Given the description of an element on the screen output the (x, y) to click on. 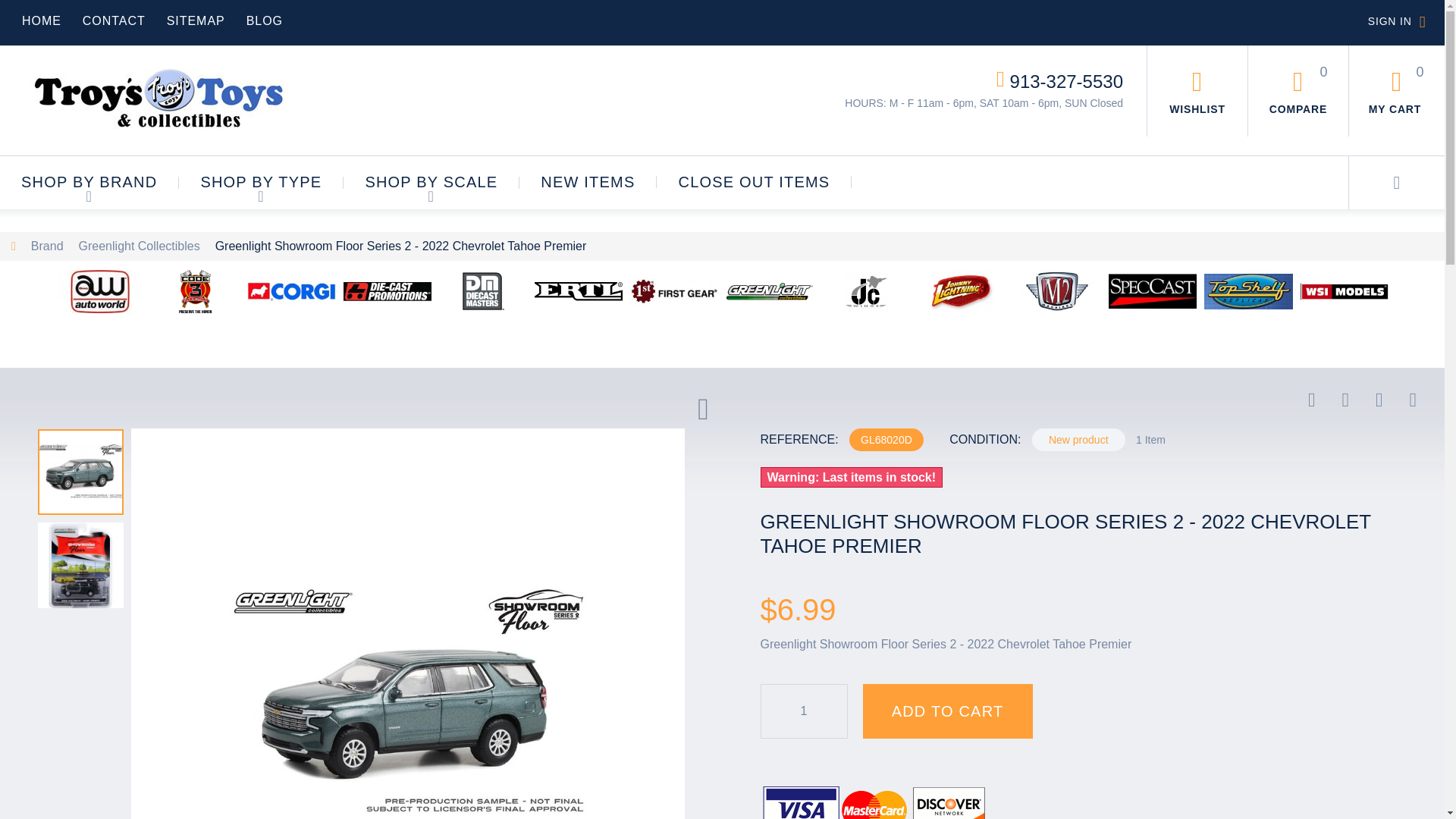
1 (803, 710)
SHOP BY SCALE (431, 189)
HOME (41, 20)
WISHLIST (1197, 90)
My wishlists (1197, 90)
913-327-5530 (1066, 81)
SHOP BY TYPE (260, 189)
SHOP BY BRAND (89, 189)
CONTACT (113, 20)
SITEMAP (196, 20)
contact (113, 20)
BLOG (264, 20)
sitemap (196, 20)
